Given the description of an element on the screen output the (x, y) to click on. 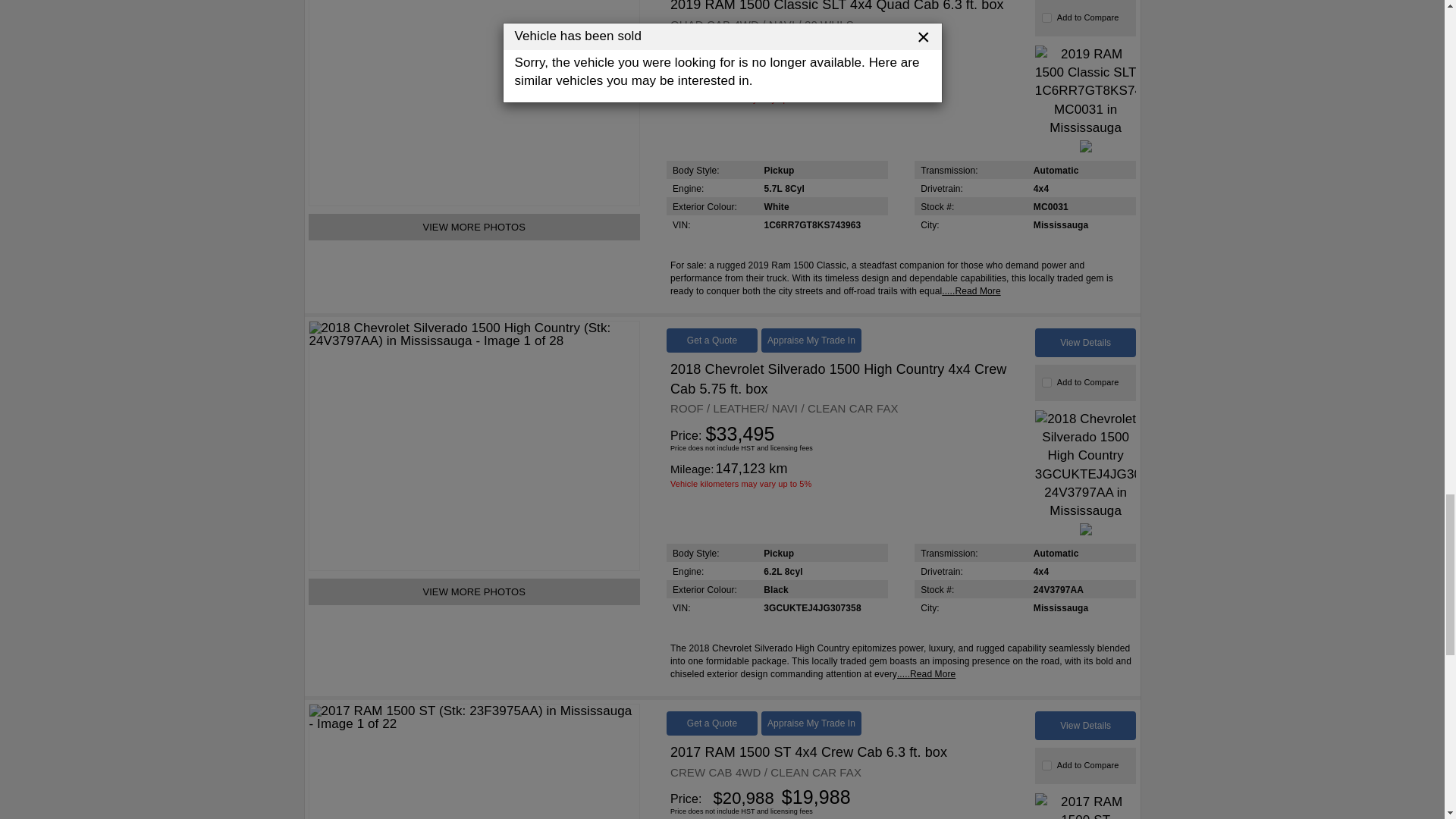
unchecked (1046, 17)
unchecked (1046, 382)
unchecked (1046, 765)
